Given the description of an element on the screen output the (x, y) to click on. 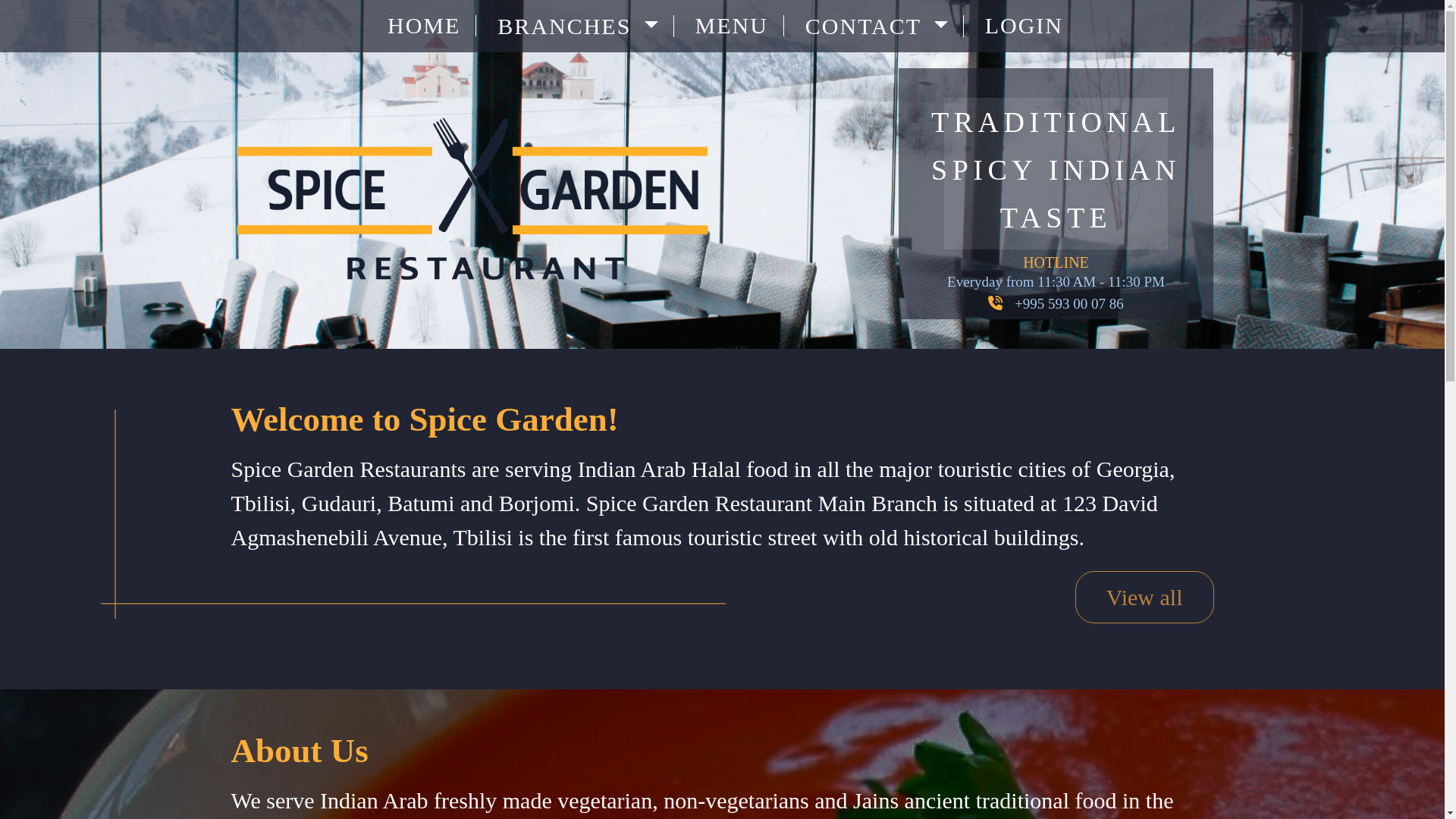
CONTACT (881, 25)
BRANCHES (582, 25)
MENU (735, 25)
HOME (428, 25)
LOGIN (1020, 25)
View all (1144, 596)
